Given the description of an element on the screen output the (x, y) to click on. 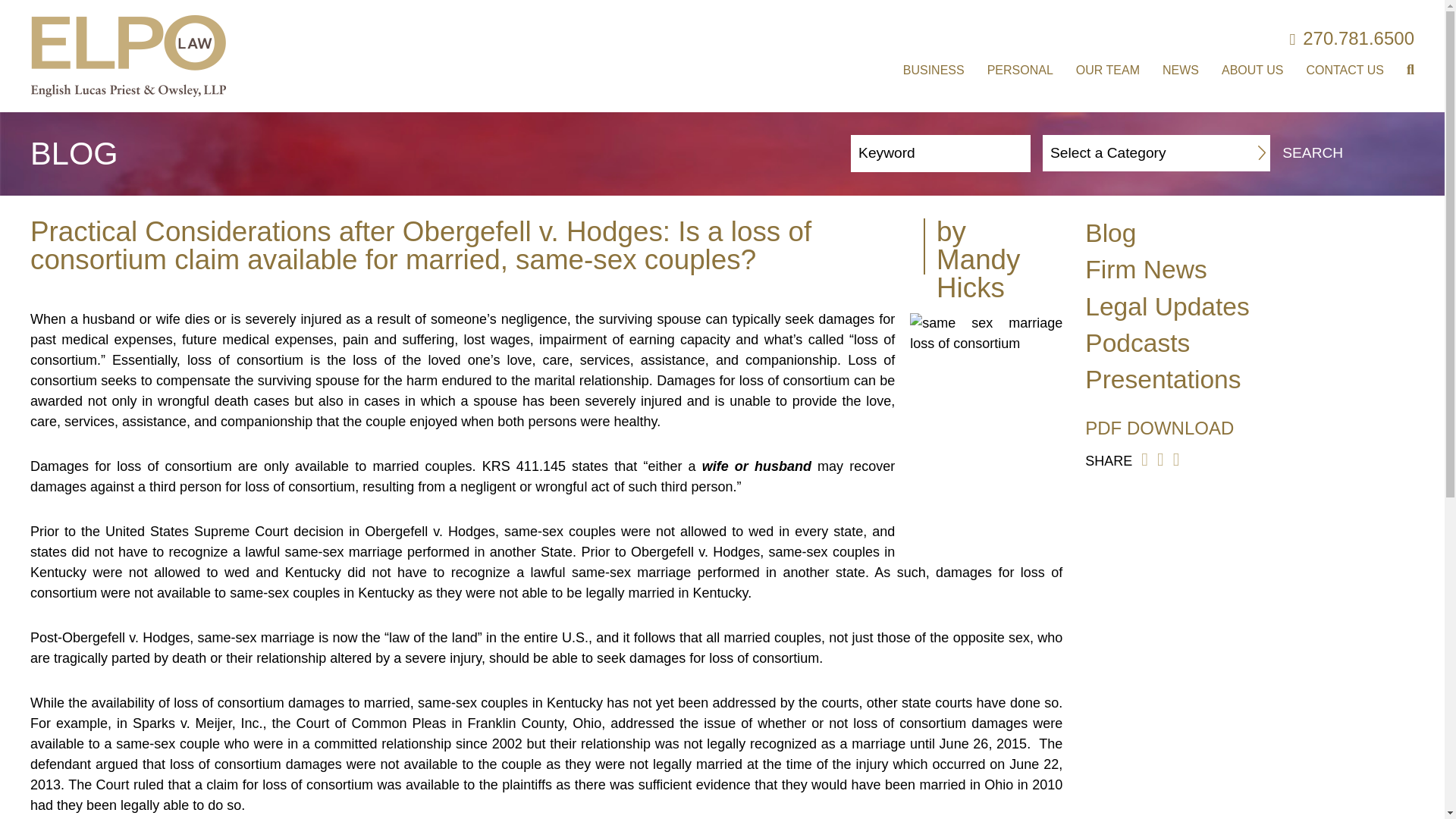
BUSINESS (933, 69)
270.781.6500 (1351, 38)
SEARCH (1347, 153)
